Given the description of an element on the screen output the (x, y) to click on. 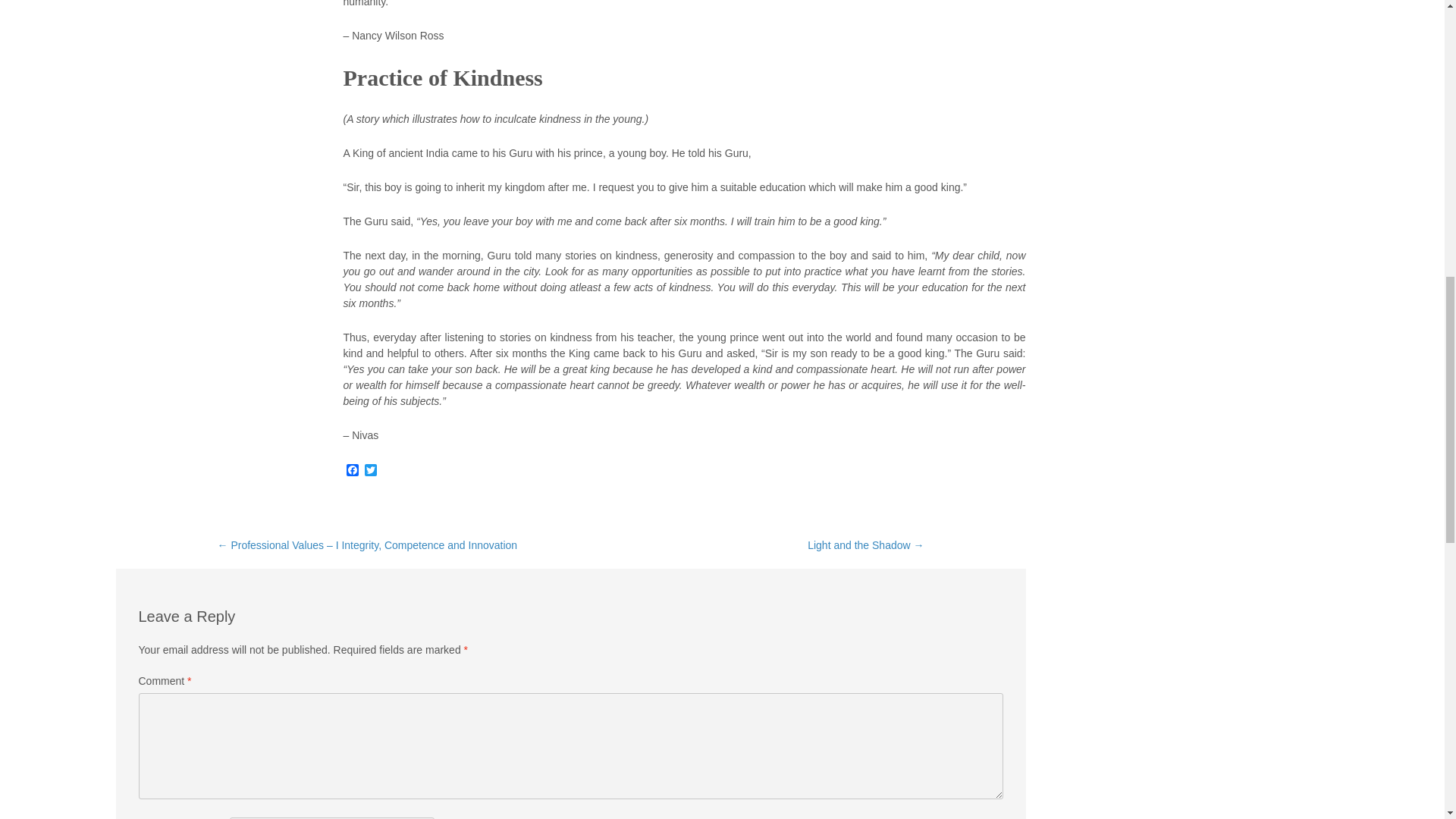
Facebook (351, 472)
Twitter (369, 471)
Twitter (369, 472)
Facebook (351, 471)
